Given the description of an element on the screen output the (x, y) to click on. 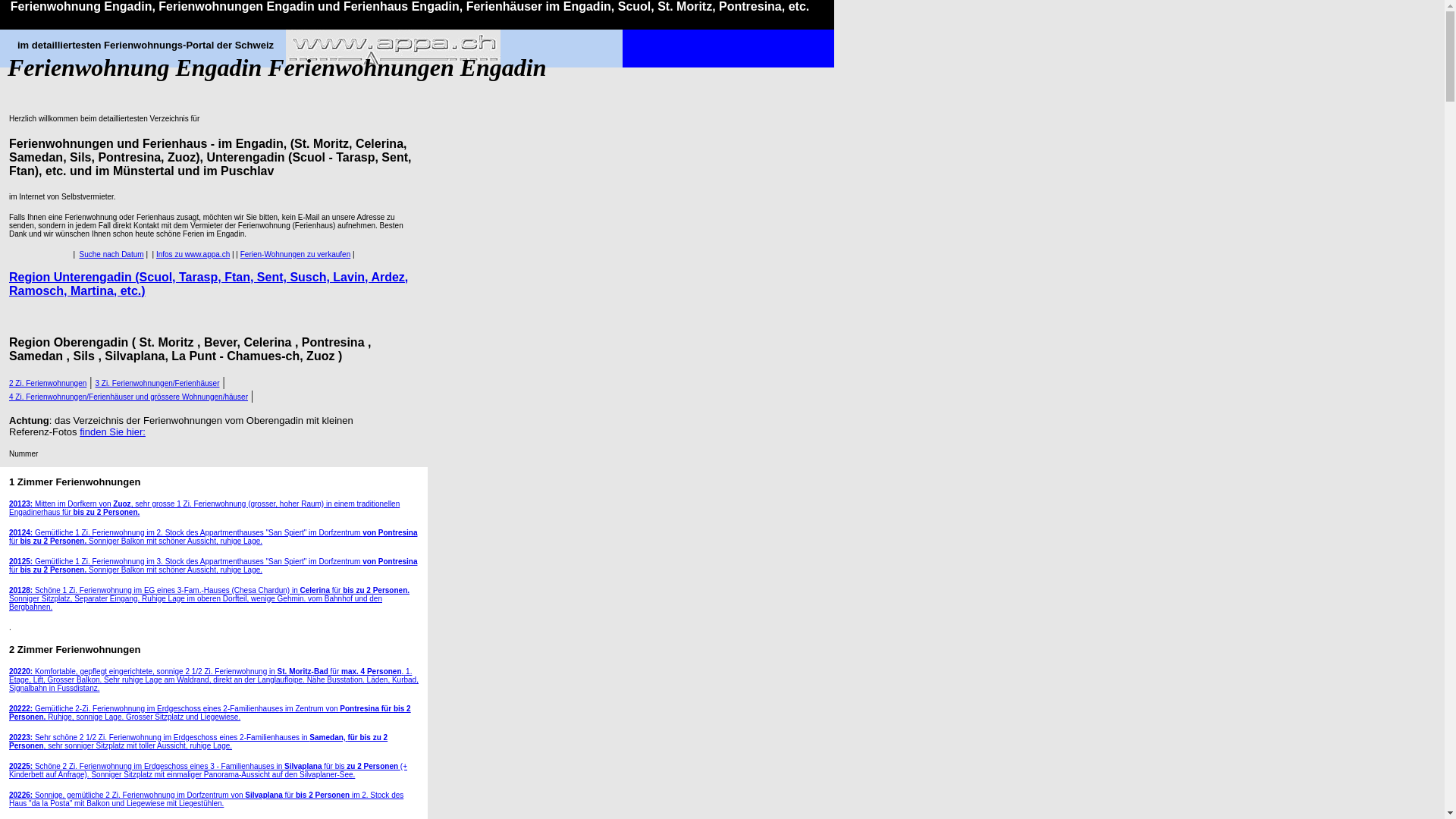
finden Sie hier: Element type: text (112, 431)
Suche nach Datum Element type: text (111, 254)
Infos zu www.appa.ch Element type: text (192, 254)
Ferien-Wohnungen zu verkaufen Element type: text (295, 254)
2 Zi. Ferienwohnungen Element type: text (47, 381)
